Given the description of an element on the screen output the (x, y) to click on. 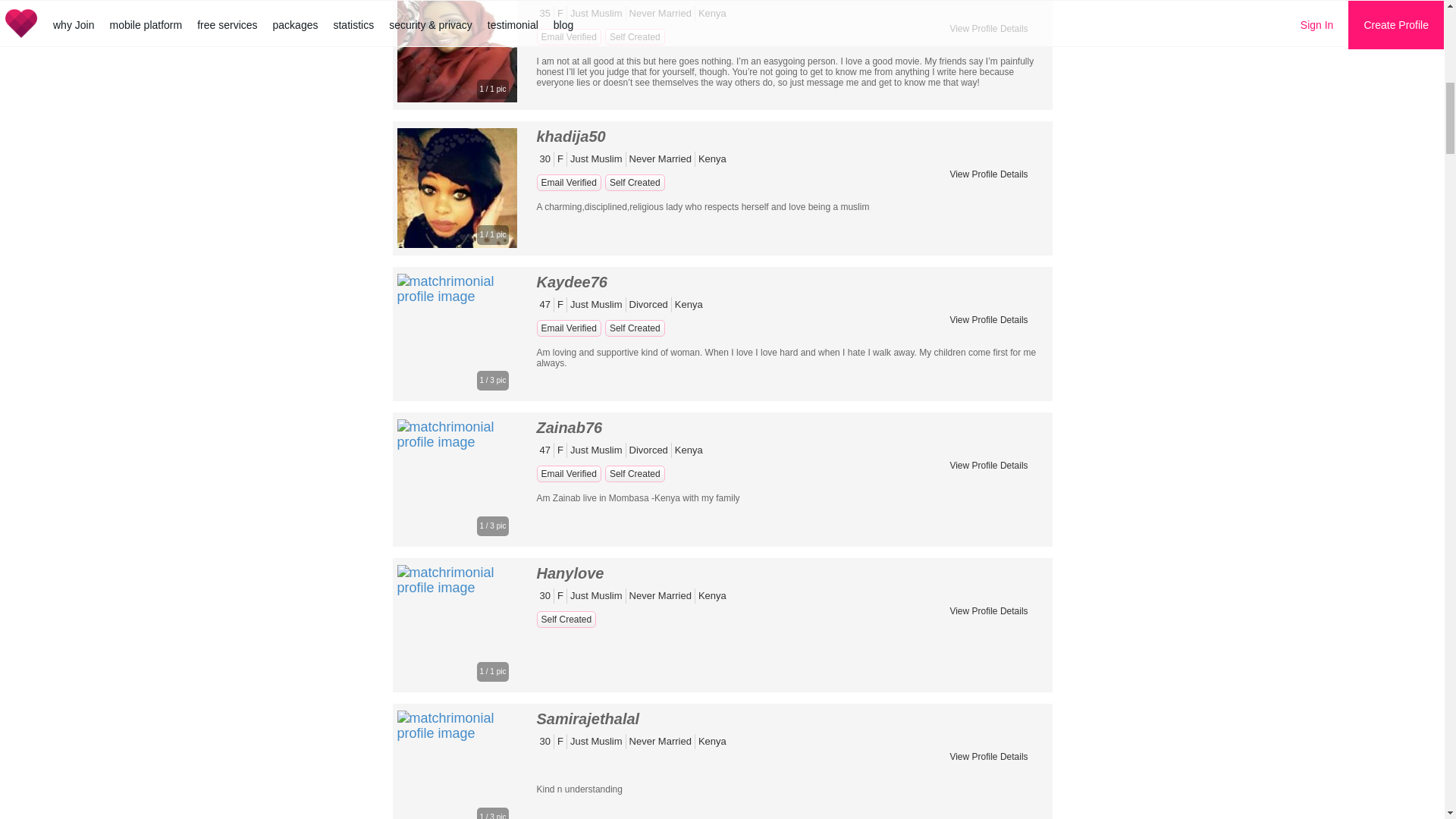
Hide Profile (1029, 142)
View Profile (988, 173)
Like Profile (947, 142)
Send Message (988, 142)
View Profile Details (988, 28)
Like Profile (947, 6)
Like Profile (947, 142)
View Profile Details (988, 173)
Hide Profile (1029, 142)
Like Profile (947, 6)
